Given the description of an element on the screen output the (x, y) to click on. 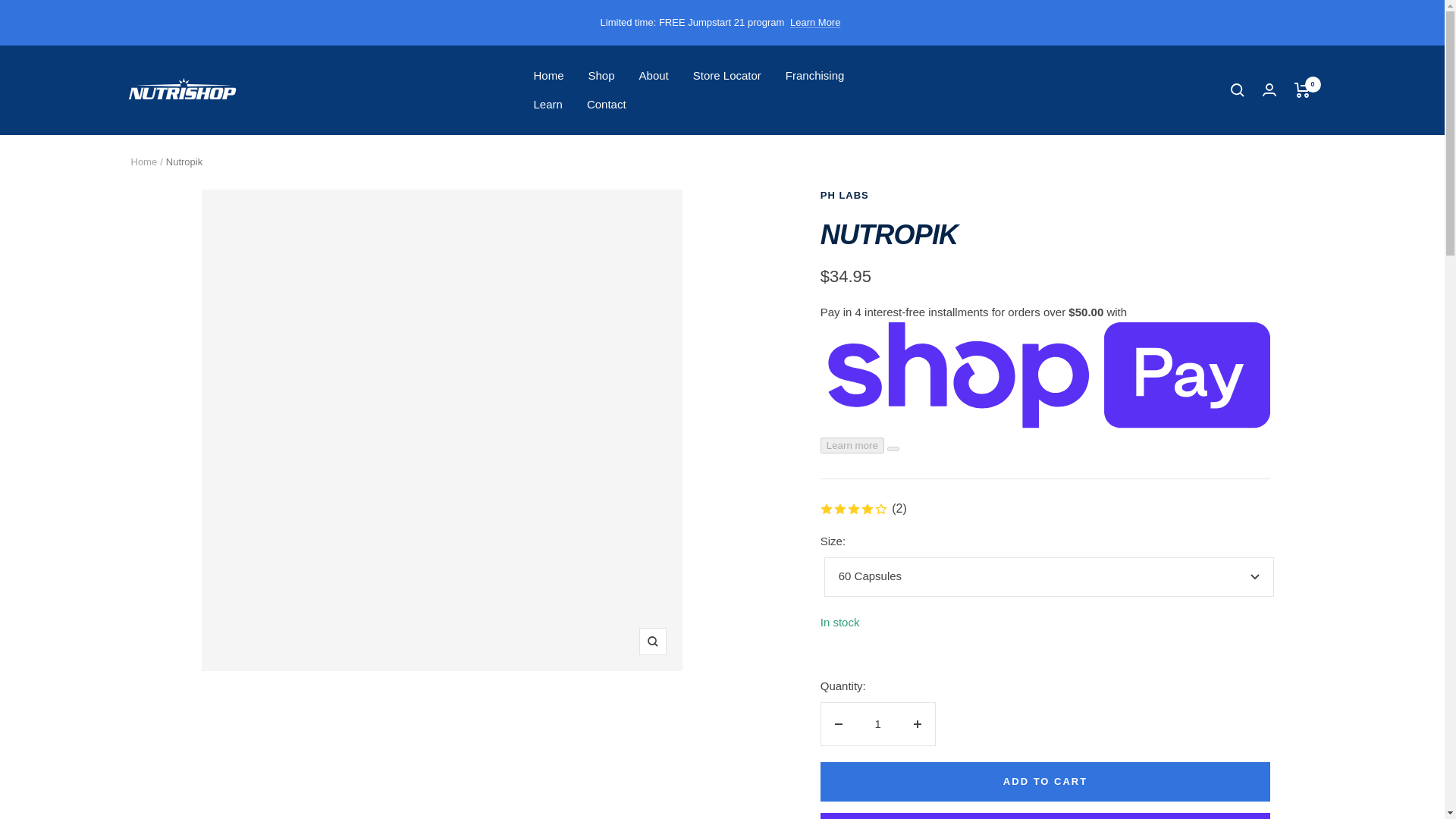
Learn (548, 104)
1 (878, 724)
Store Locator (727, 75)
0 (1301, 89)
Learn More (815, 22)
Shop (601, 75)
Franchising (815, 75)
About (653, 75)
Home (549, 75)
NutrishopUSA (182, 89)
Contact (606, 104)
